Given the description of an element on the screen output the (x, y) to click on. 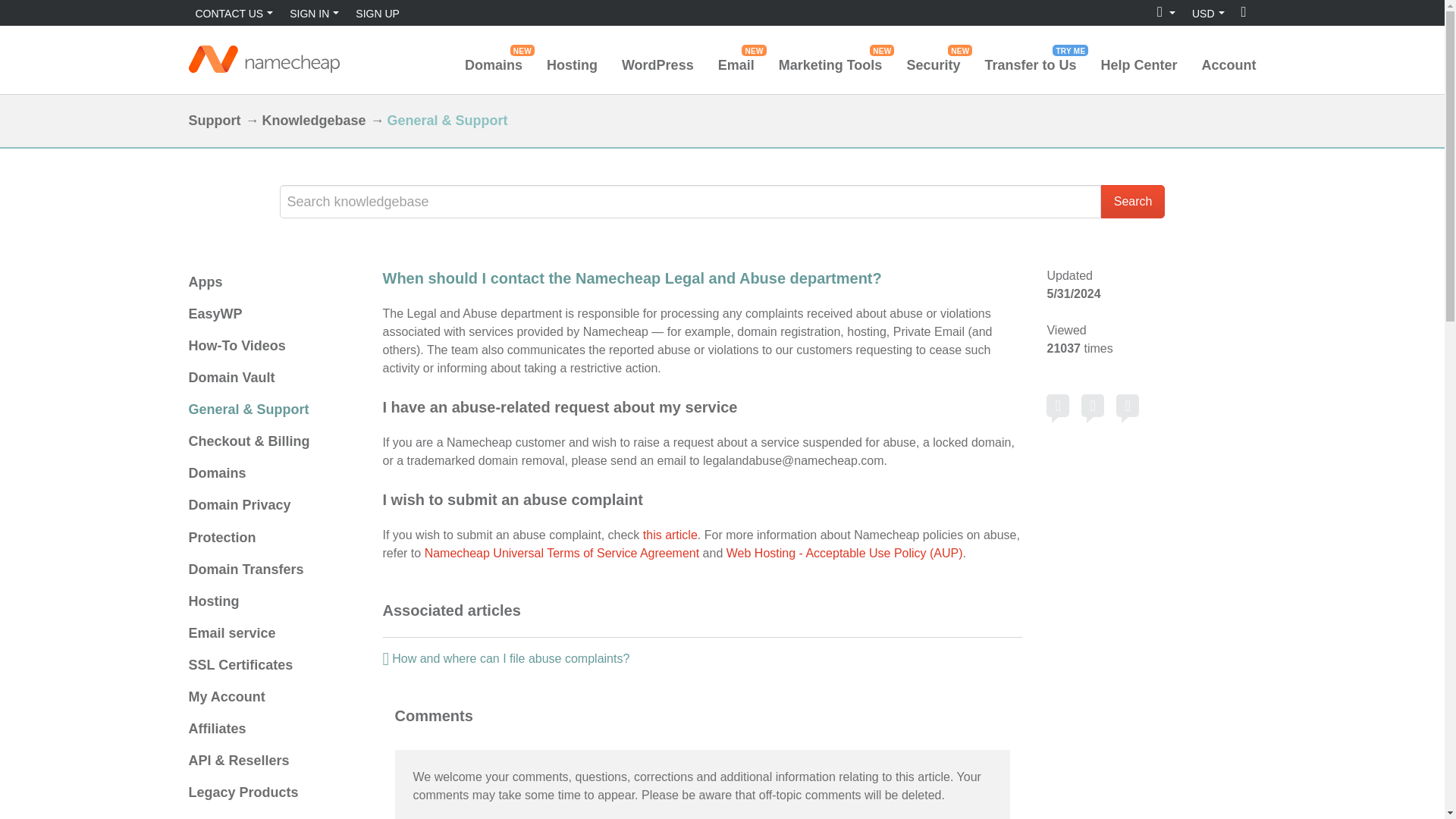
SIGN UP (377, 12)
CONTACT US (233, 12)
Tweet This (1092, 404)
Pin on Pinterest (1127, 404)
SIGN IN (493, 65)
Hosting (314, 12)
Share on Facebook (571, 65)
WordPress (1057, 404)
